Given the description of an element on the screen output the (x, y) to click on. 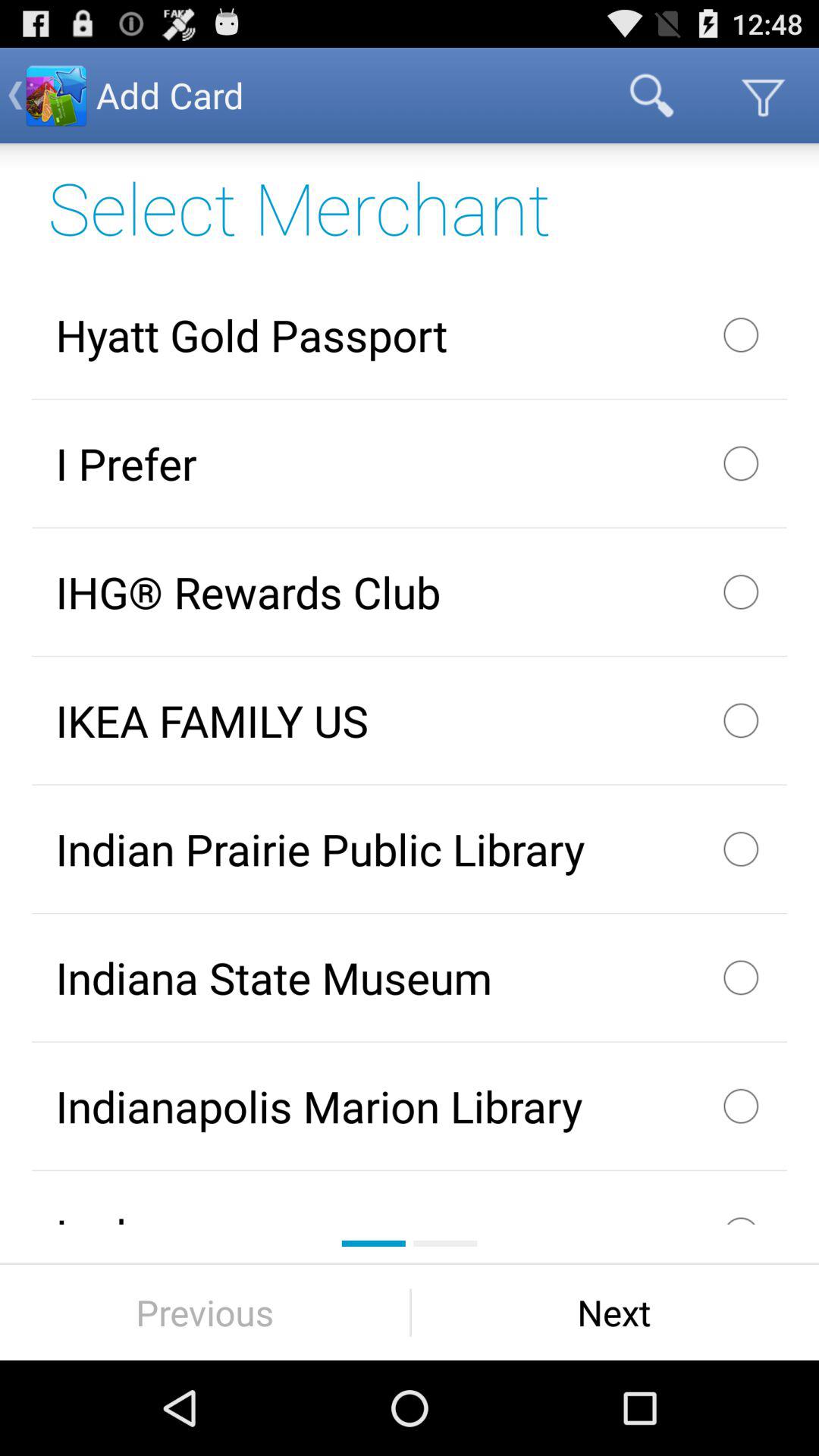
turn on the indiana state museum item (409, 977)
